Given the description of an element on the screen output the (x, y) to click on. 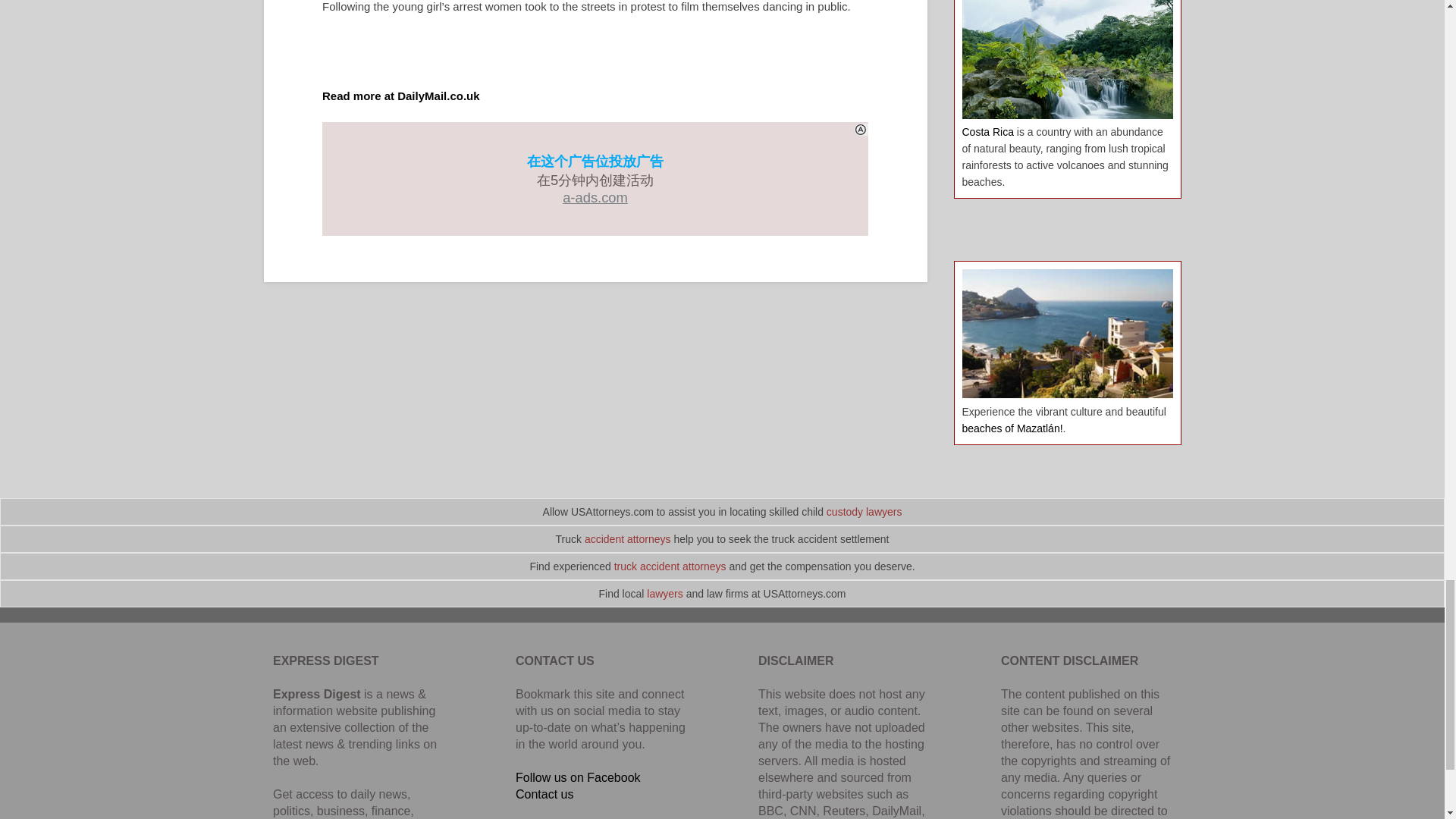
custody lawyers (864, 511)
Read more at DailyMail.co.uk (400, 95)
Costa Rica (986, 132)
